Given the description of an element on the screen output the (x, y) to click on. 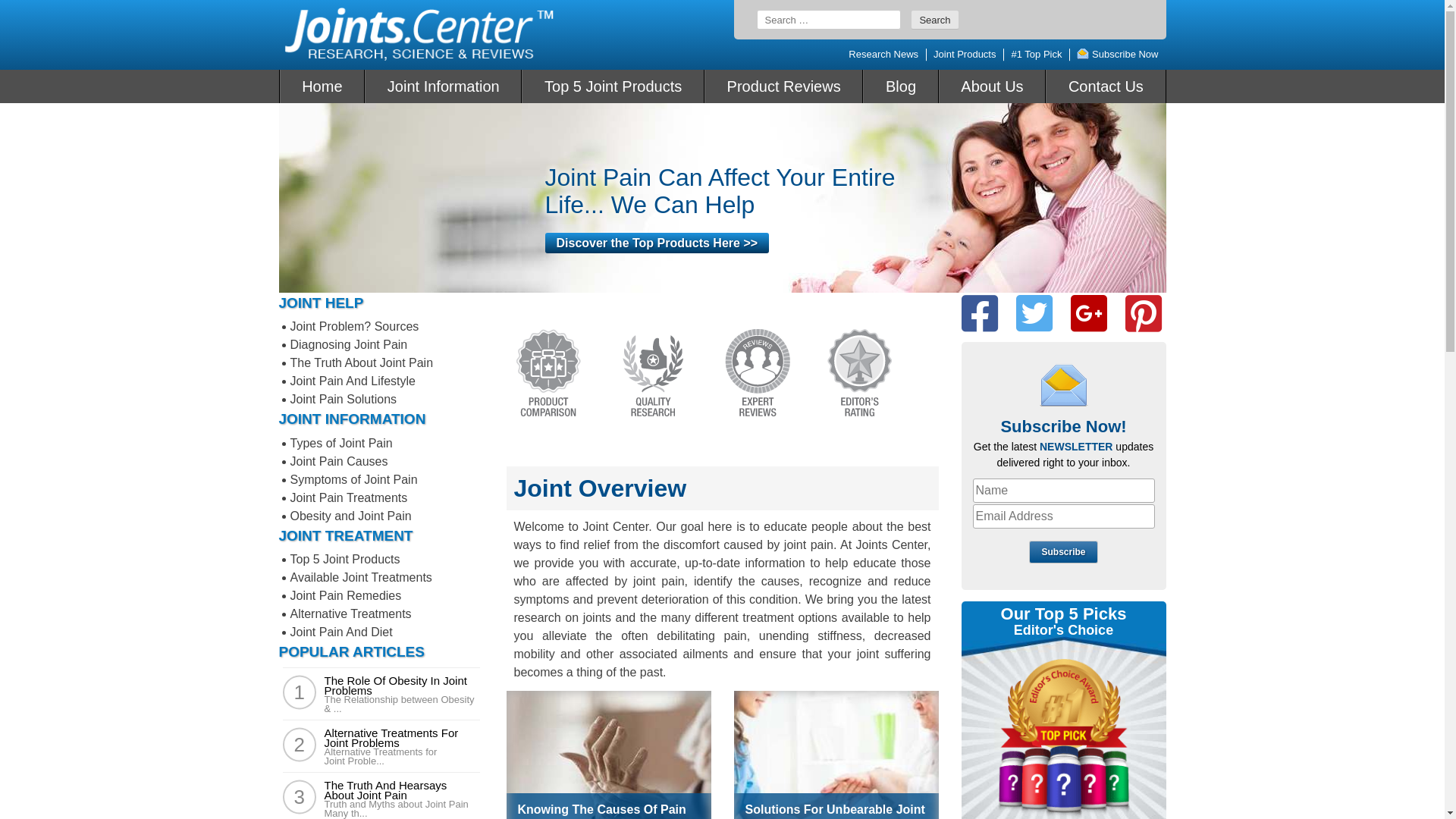
Facebook Element type: text (979, 313)
Contact Us Element type: text (1105, 86)
Top 5 Joint Products Element type: text (612, 86)
Subscribe Now Element type: text (1116, 54)
Google + Element type: text (1088, 313)
Blog Element type: text (900, 86)
Joint Products Element type: text (964, 54)
Types of Joint Pain Element type: text (340, 442)
Twitter Element type: text (1034, 313)
Joint Pain Treatments Element type: text (348, 497)
Diagnosing Joint Pain Element type: text (348, 344)
Subscribe Element type: text (1063, 551)
Alternative Treatments Element type: text (350, 613)
Symptoms of Joint Pain Element type: text (353, 479)
Pinterest Element type: text (1143, 313)
Top 5 Joint Products Element type: text (344, 558)
Discover the Top Products Here >> Element type: text (656, 242)
The Truth About Joint Pain Element type: text (361, 362)
Search Element type: text (934, 19)
Available Joint Treatments Element type: text (360, 577)
About Us Element type: text (992, 86)
Joint Pain And Lifestyle Element type: text (351, 380)
Joint Pain Remedies Element type: text (345, 595)
#1 Top Pick Element type: text (1035, 54)
Home Element type: text (321, 86)
Joint Pain Solutions Element type: text (342, 398)
Product Reviews Element type: text (783, 86)
Research News Element type: text (883, 54)
Joint Pain Causes Element type: text (338, 461)
Obesity and Joint Pain Element type: text (350, 515)
Joint Problem? Sources Element type: text (353, 326)
Joint Pain And Diet Element type: text (340, 631)
Joint Information Element type: text (442, 86)
